Given the description of an element on the screen output the (x, y) to click on. 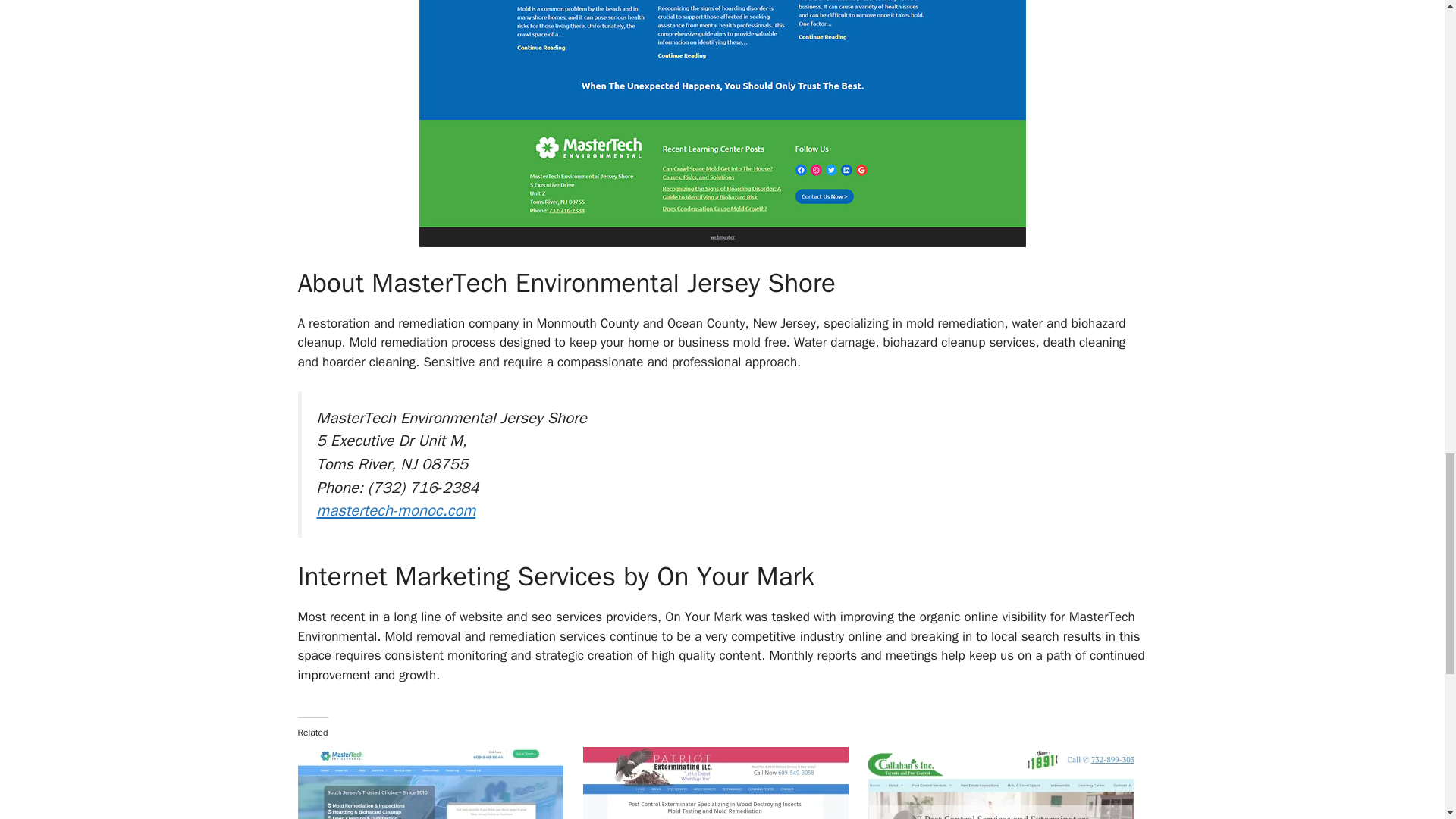
Bugsycal.com Has a New Website! (1002, 782)
Mastertechmold.com (432, 782)
patriotexterminatingllc.com (718, 782)
mastertech-monoc.com (396, 510)
